Given the description of an element on the screen output the (x, y) to click on. 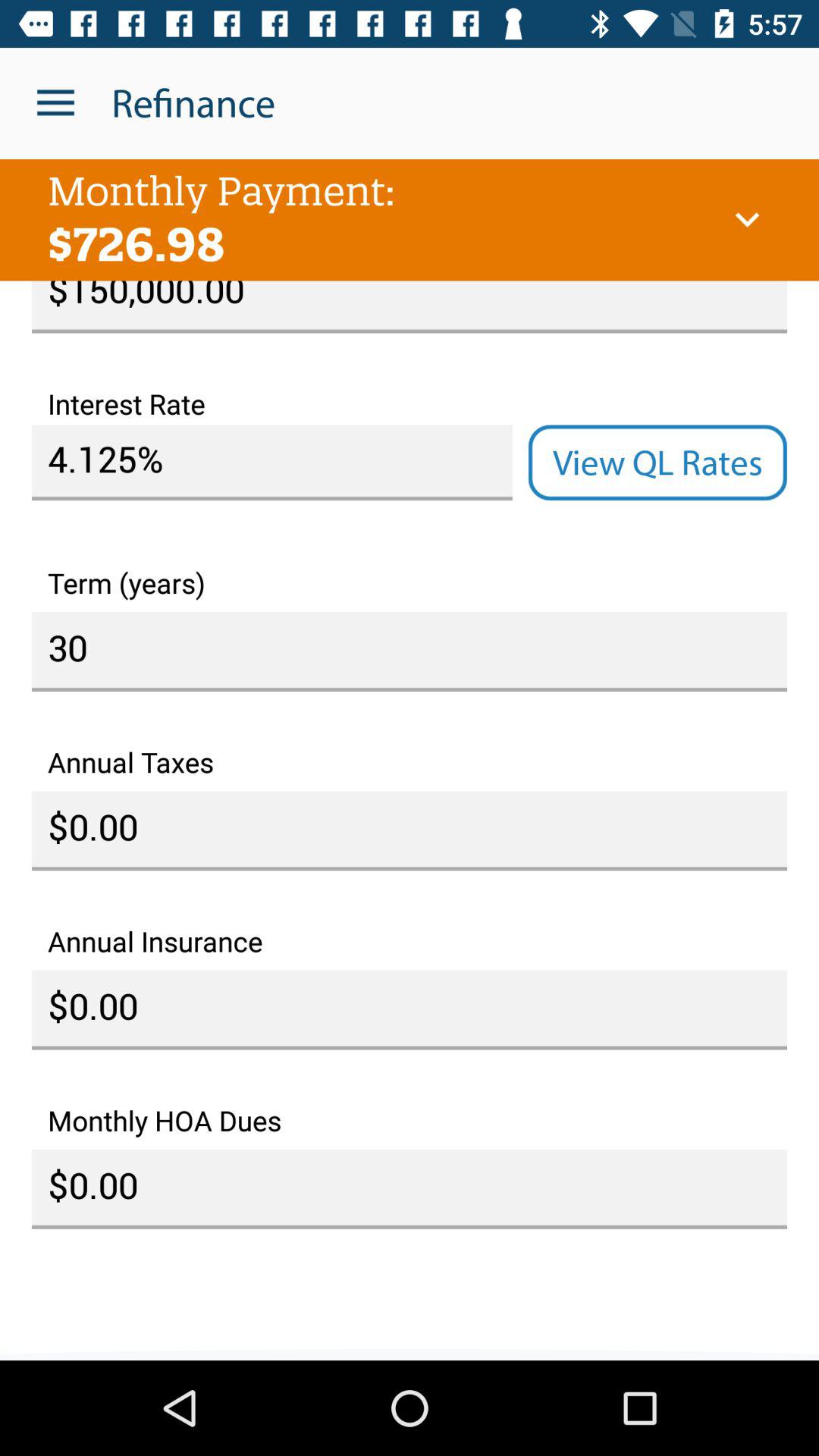
click the icon below interest rate item (657, 462)
